Given the description of an element on the screen output the (x, y) to click on. 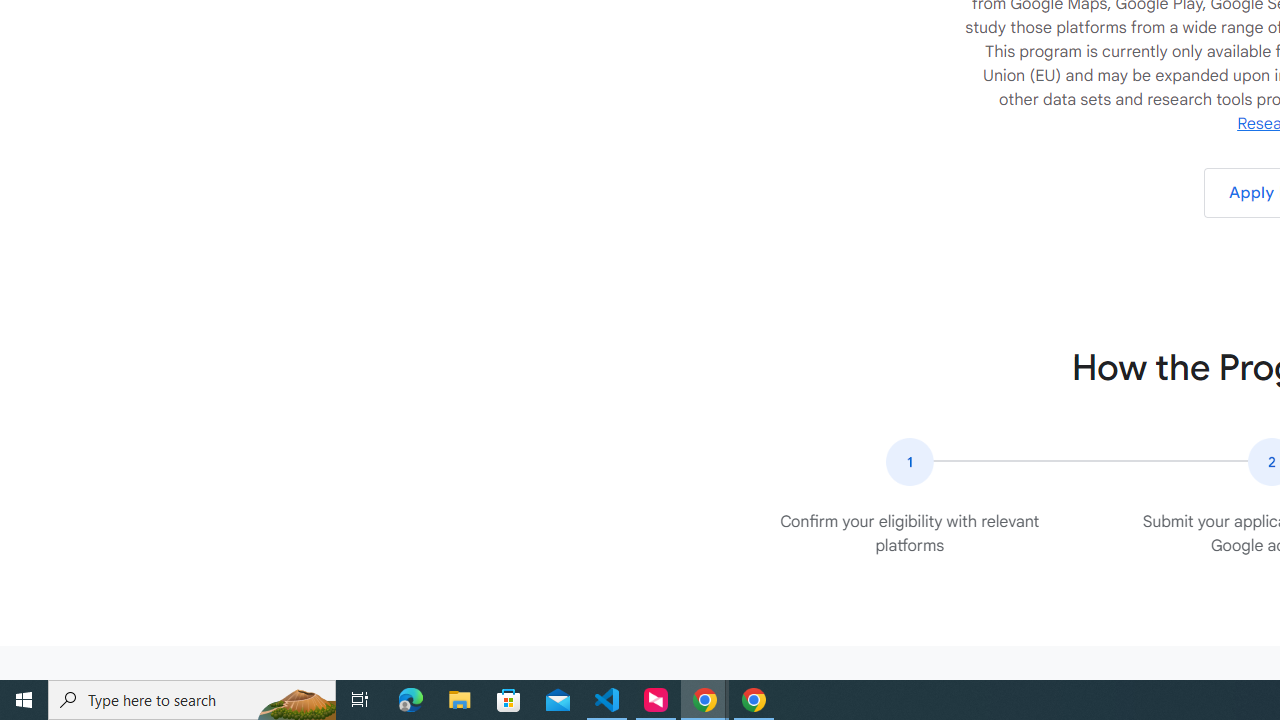
The number one in a circular icon. (909, 461)
